Given the description of an element on the screen output the (x, y) to click on. 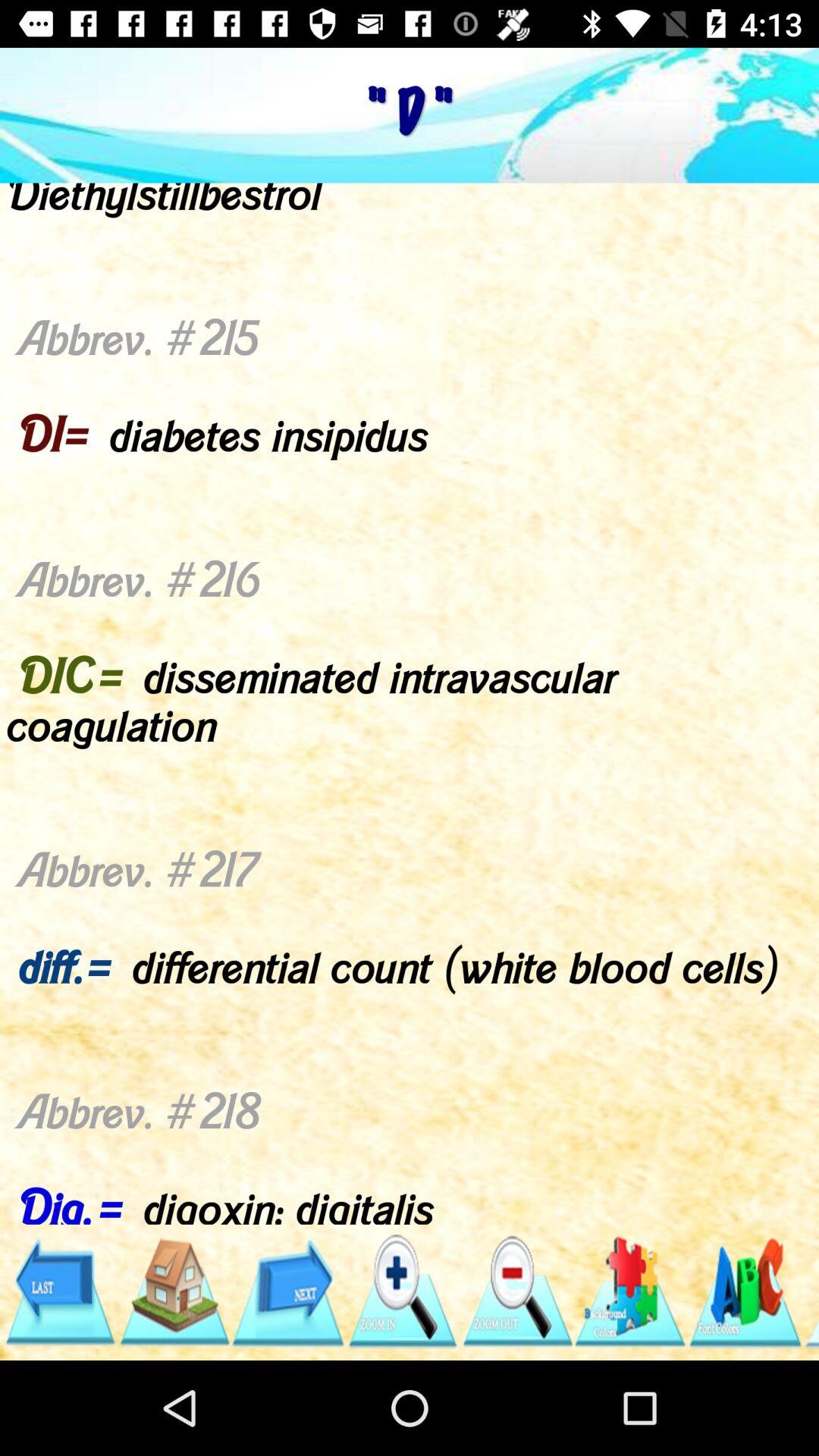
go back to previous page (59, 1291)
